Given the description of an element on the screen output the (x, y) to click on. 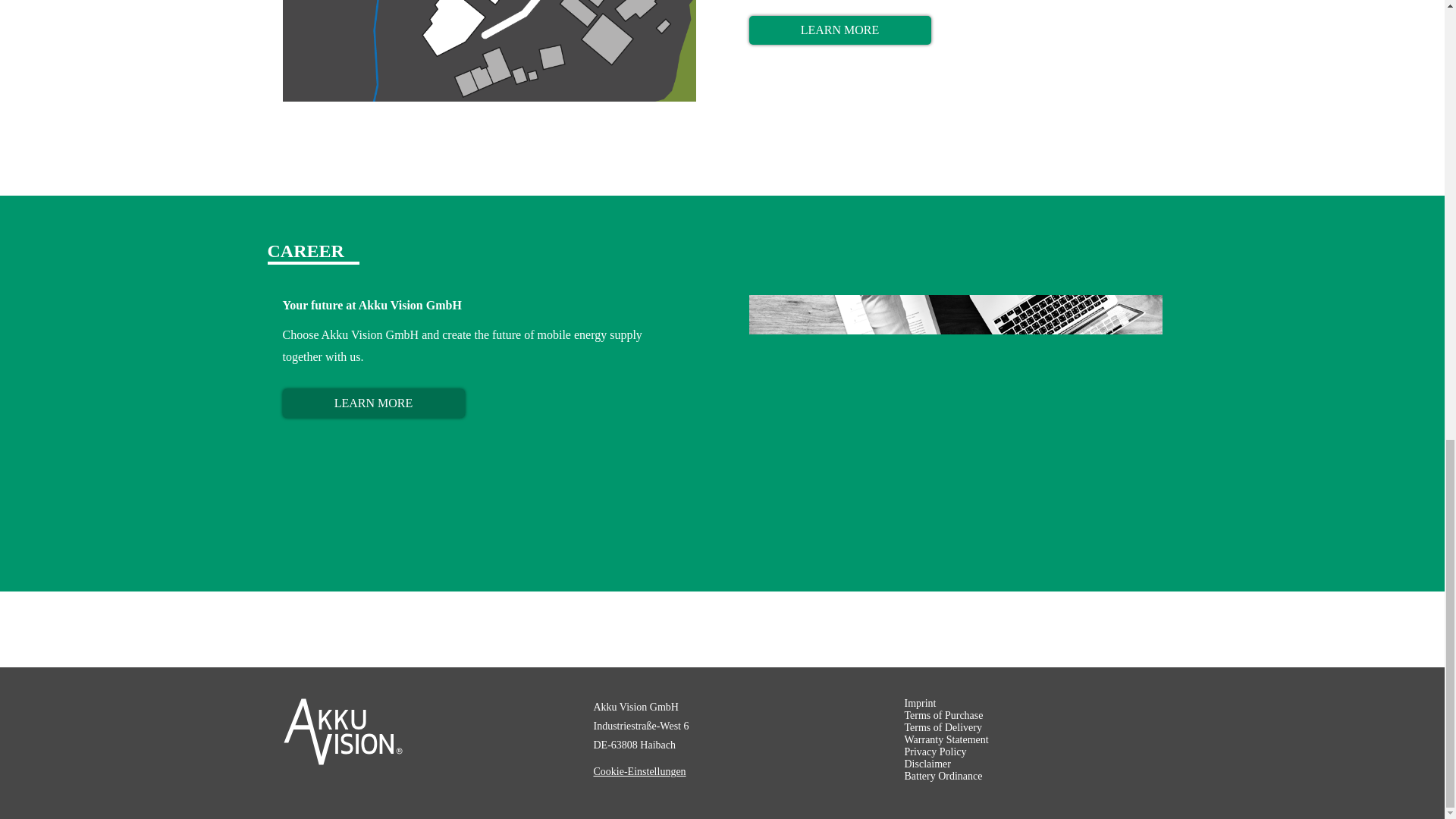
Terms of Purchase (943, 715)
Terms of Delivery (942, 727)
LEARN MORE (840, 30)
Imprint (920, 703)
LEARN MORE (373, 403)
Cookie-Einstellungen (638, 771)
